Given the description of an element on the screen output the (x, y) to click on. 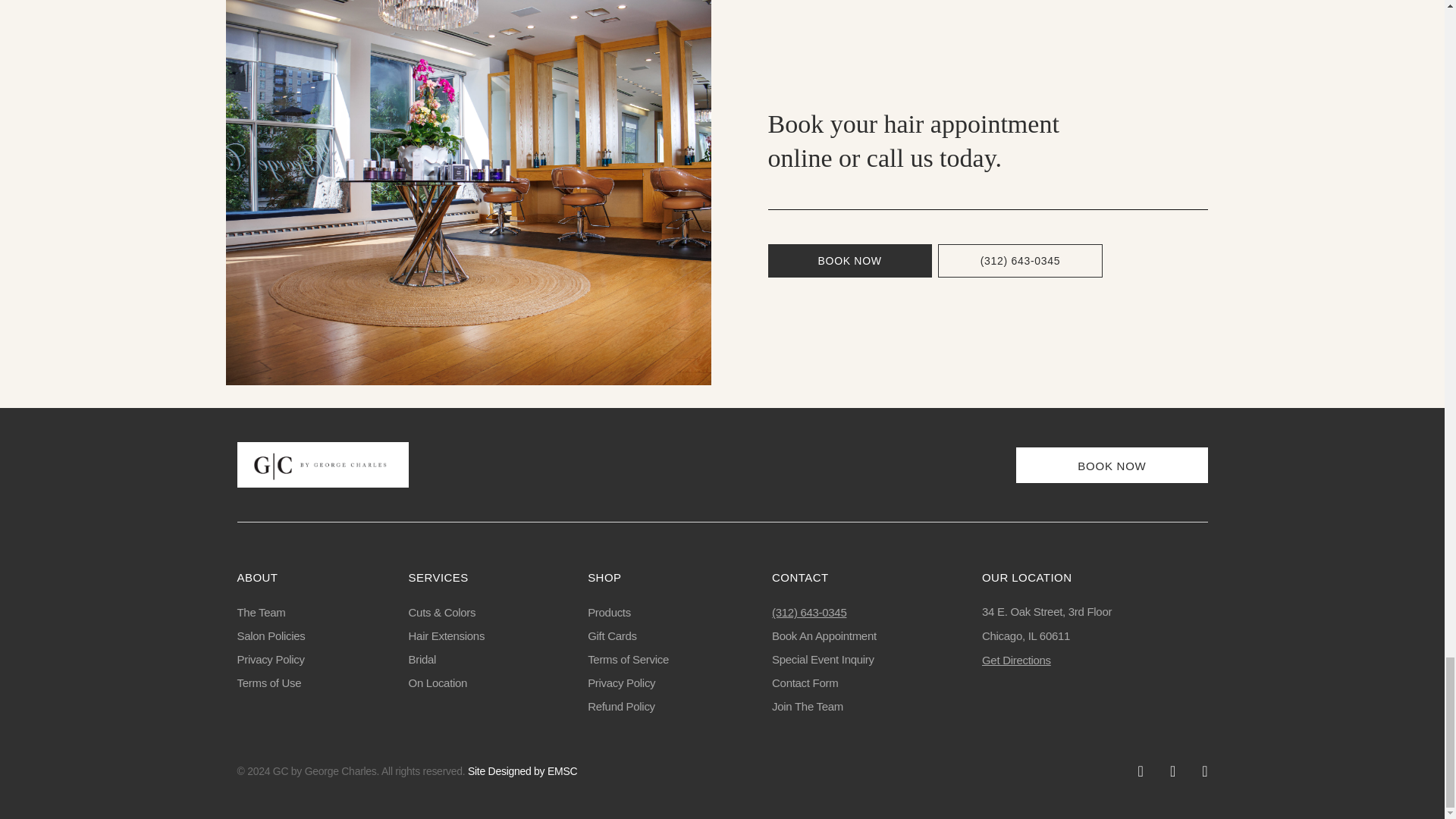
Privacy Policy (269, 659)
Products (609, 612)
Hair Extensions (446, 635)
BOOK NOW (849, 260)
The Team (260, 612)
Refund Policy (621, 706)
Gift Cards (612, 635)
Terms of Service (628, 659)
Terms of Use (268, 682)
Salon Policies (269, 635)
